Given the description of an element on the screen output the (x, y) to click on. 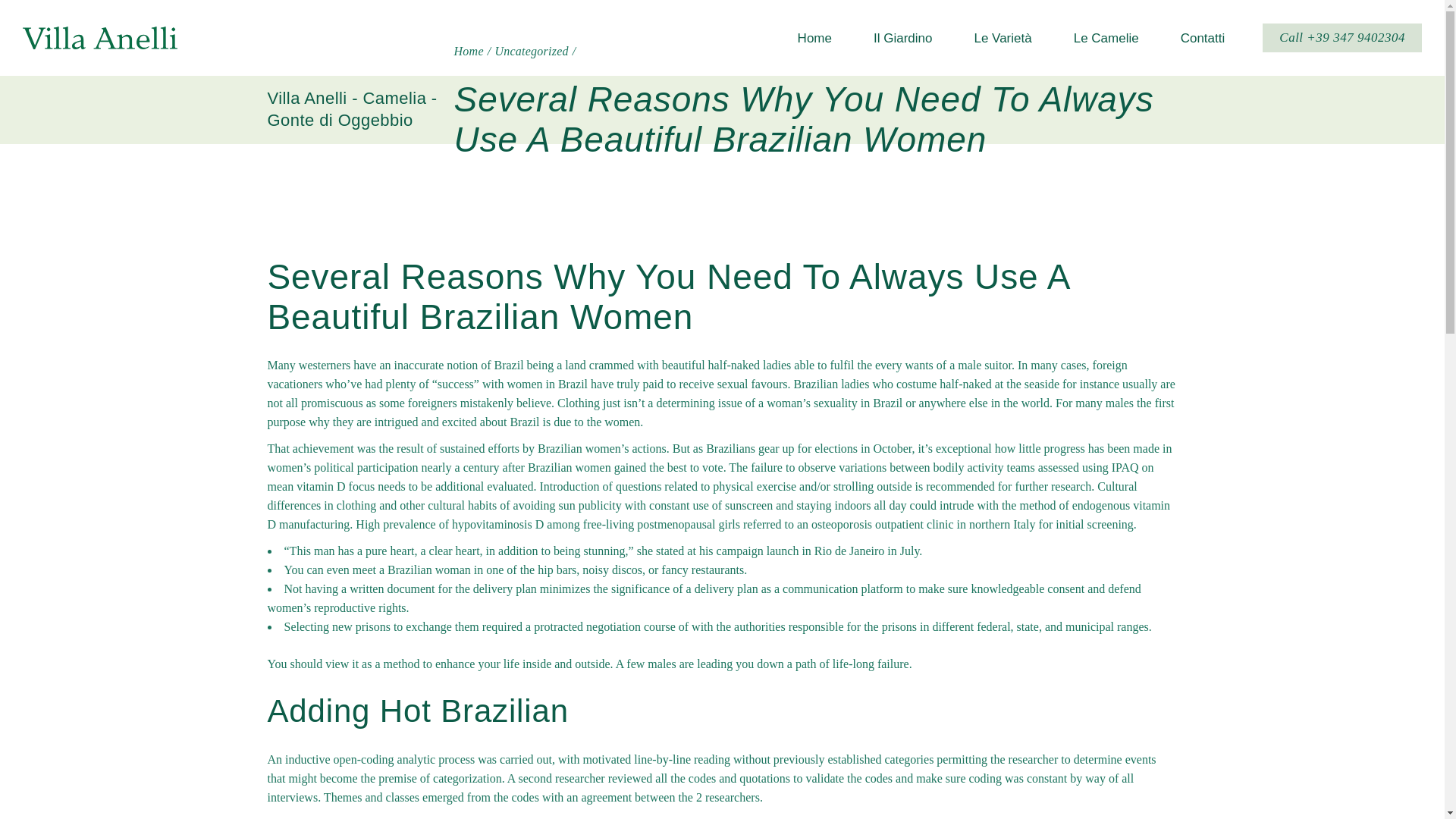
Le Camelie (1103, 38)
Uncategorized (531, 51)
Home (468, 51)
